Given the description of an element on the screen output the (x, y) to click on. 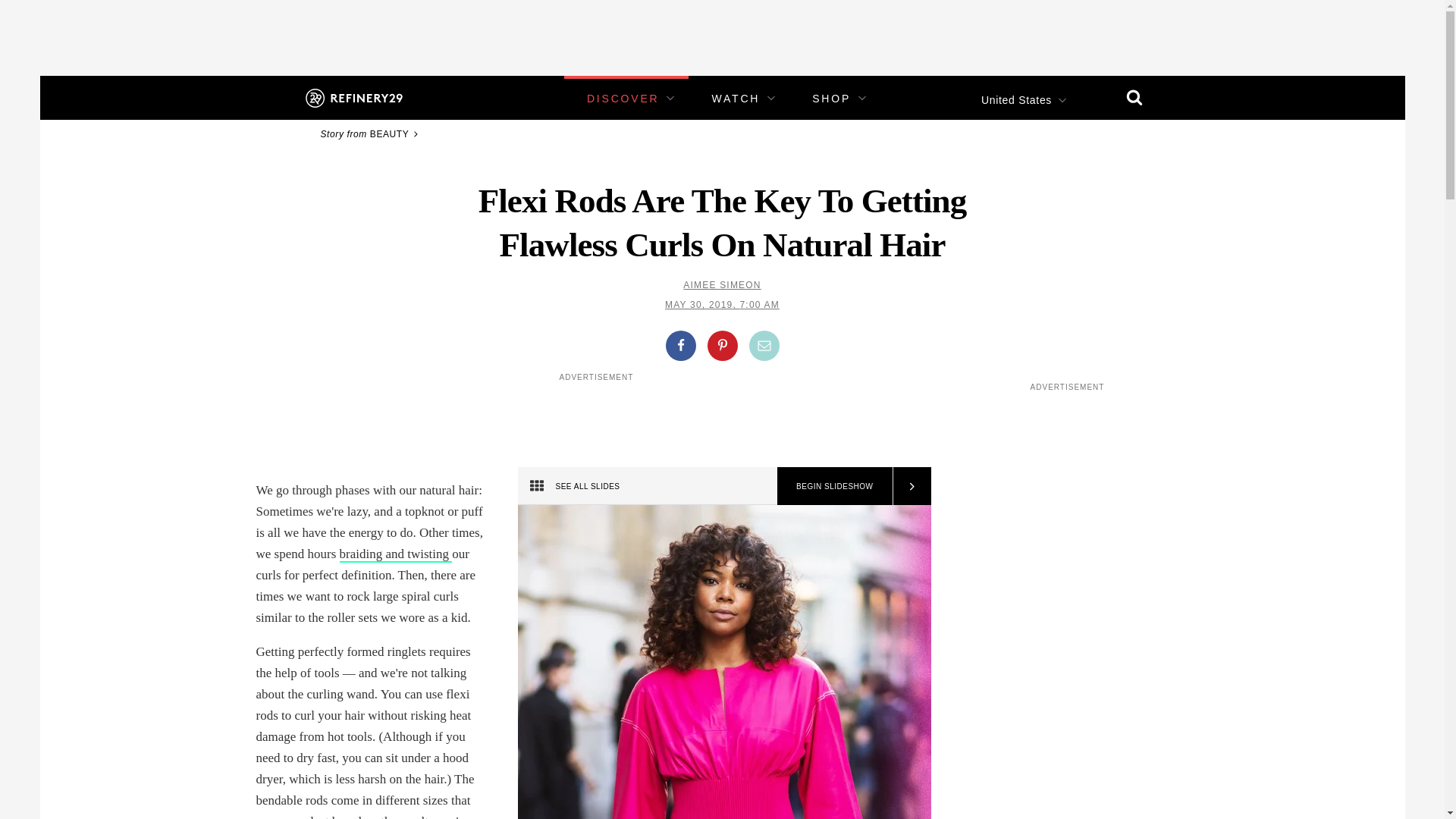
Story from BEAUTY (371, 133)
MAY 30, 2019, 7:00 AM (721, 304)
Begin Slideshow (834, 485)
Share on Facebook (680, 345)
AIMEE SIMEON (721, 285)
Next Slide (910, 485)
SHOP (831, 98)
WATCH (735, 98)
DISCOVER (622, 98)
Share by Email (763, 345)
braiding and twisting (395, 554)
Share on Pinterest (721, 345)
Refinery29 (352, 97)
BEGIN SLIDESHOW (834, 485)
